Given the description of an element on the screen output the (x, y) to click on. 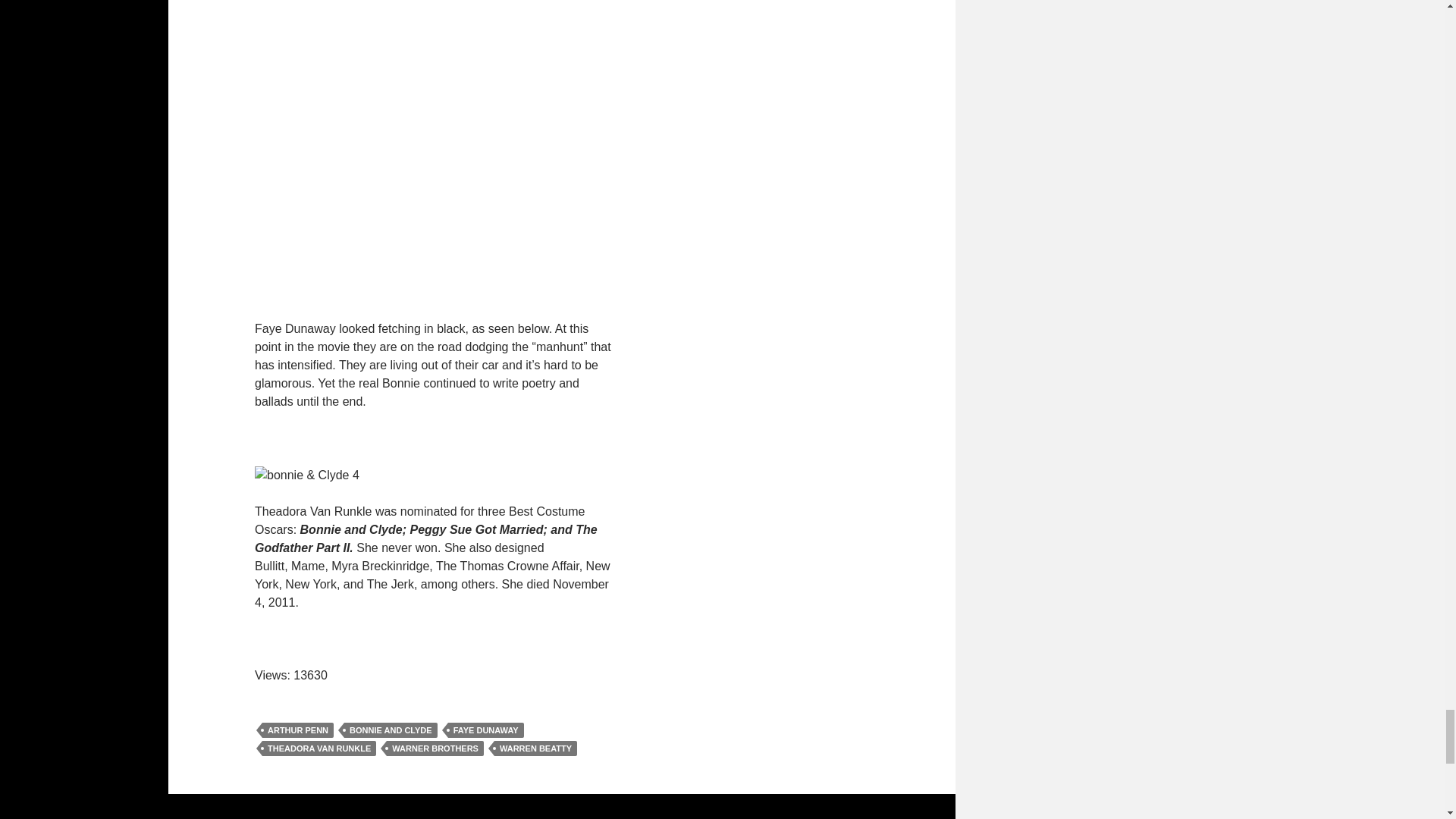
BONNIE AND CLYDE (390, 729)
ARTHUR PENN (297, 729)
THEADORA VAN RUNKLE (318, 748)
FAYE DUNAWAY (486, 729)
WARREN BEATTY (535, 748)
WARNER BROTHERS (435, 748)
